Given the description of an element on the screen output the (x, y) to click on. 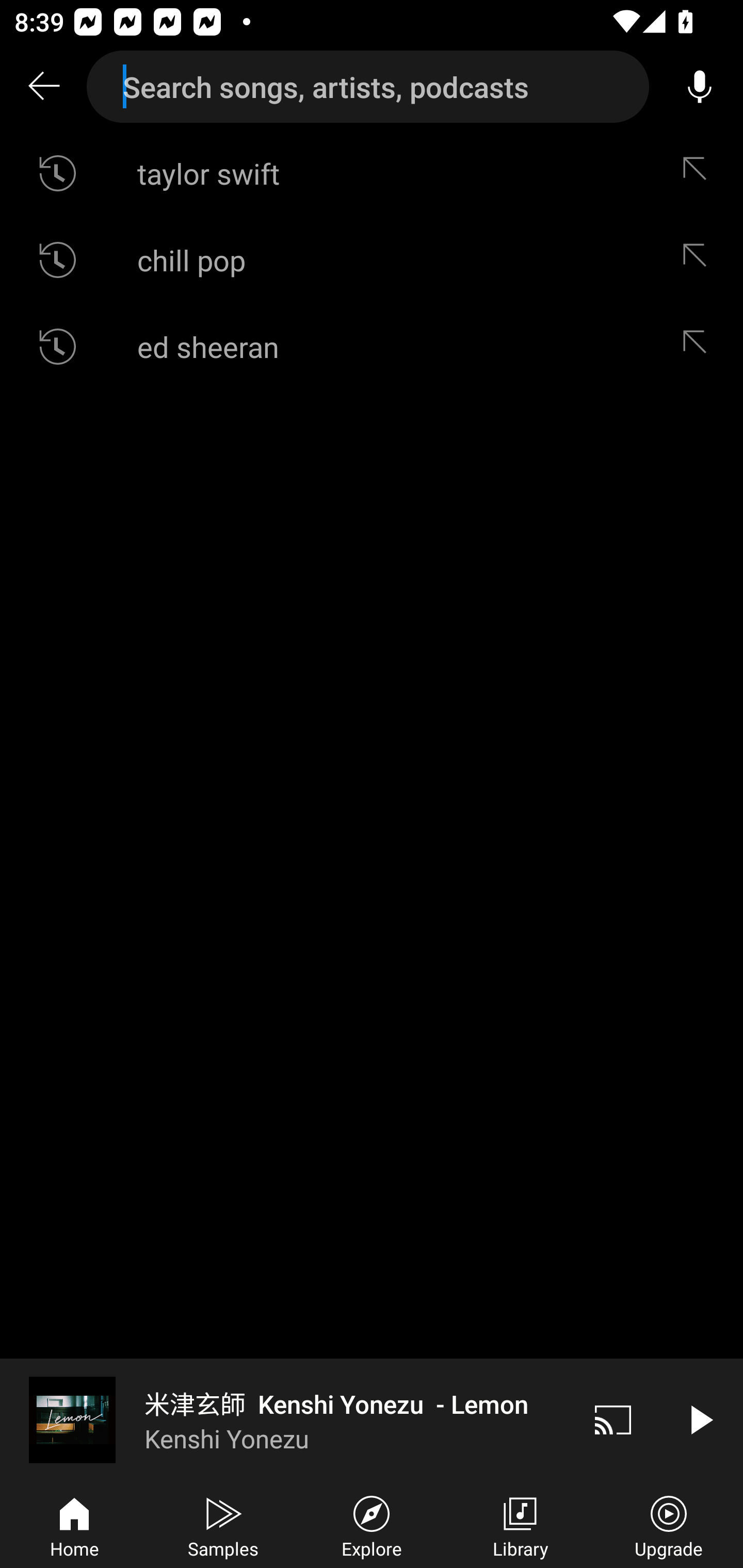
Search back (43, 86)
Search songs, artists, podcasts (367, 86)
Voice search (699, 86)
taylor swift Edit suggestion taylor swift (371, 173)
Edit suggestion taylor swift (699, 173)
chill pop Edit suggestion chill pop (371, 259)
Edit suggestion chill pop (699, 259)
ed sheeran Edit suggestion ed sheeran (371, 346)
Edit suggestion ed sheeran (699, 346)
米津玄師  Kenshi Yonezu  - Lemon Kenshi Yonezu (284, 1419)
Cast. Disconnected (612, 1419)
Play video (699, 1419)
Home (74, 1524)
Samples (222, 1524)
Explore (371, 1524)
Library (519, 1524)
Upgrade (668, 1524)
